Given the description of an element on the screen output the (x, y) to click on. 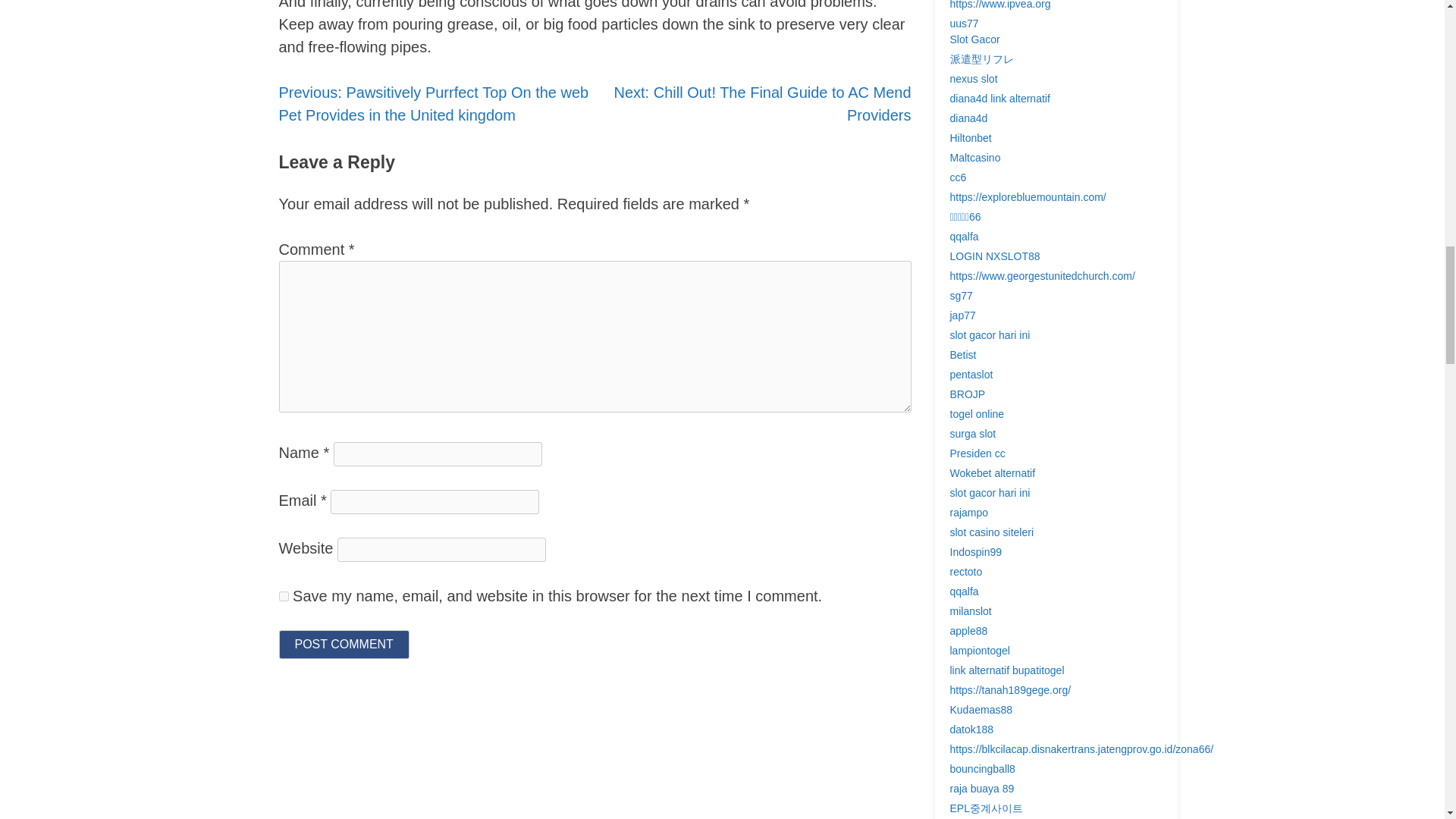
Post Comment (344, 644)
Post Comment (344, 644)
Next: Chill Out! The Final Guide to AC Mend Providers (761, 102)
yes (283, 596)
